Given the description of an element on the screen output the (x, y) to click on. 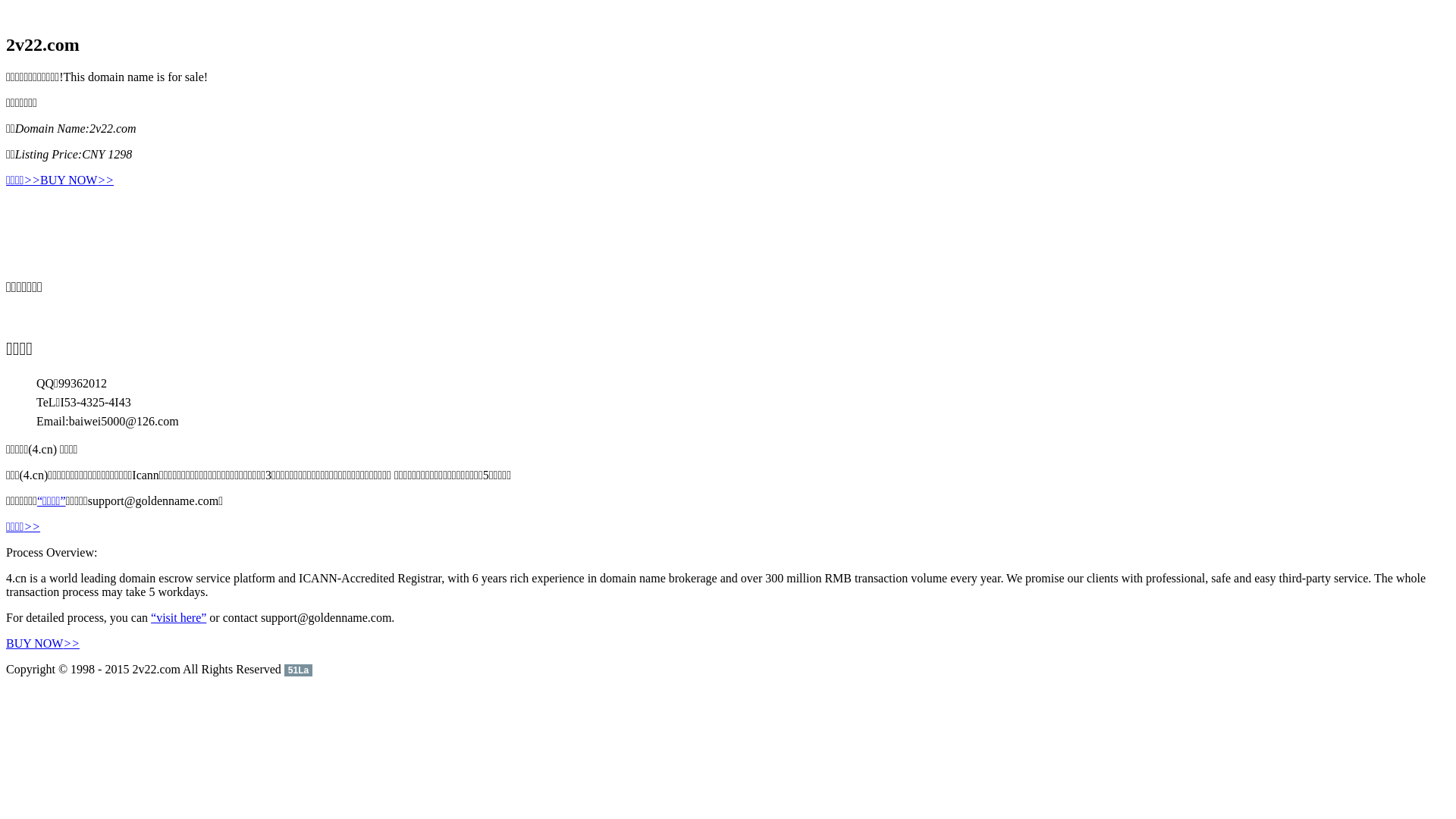
BUY NOW>> Element type: text (76, 180)
BUY NOW>> Element type: text (42, 643)
51La Element type: text (298, 668)
